Given the description of an element on the screen output the (x, y) to click on. 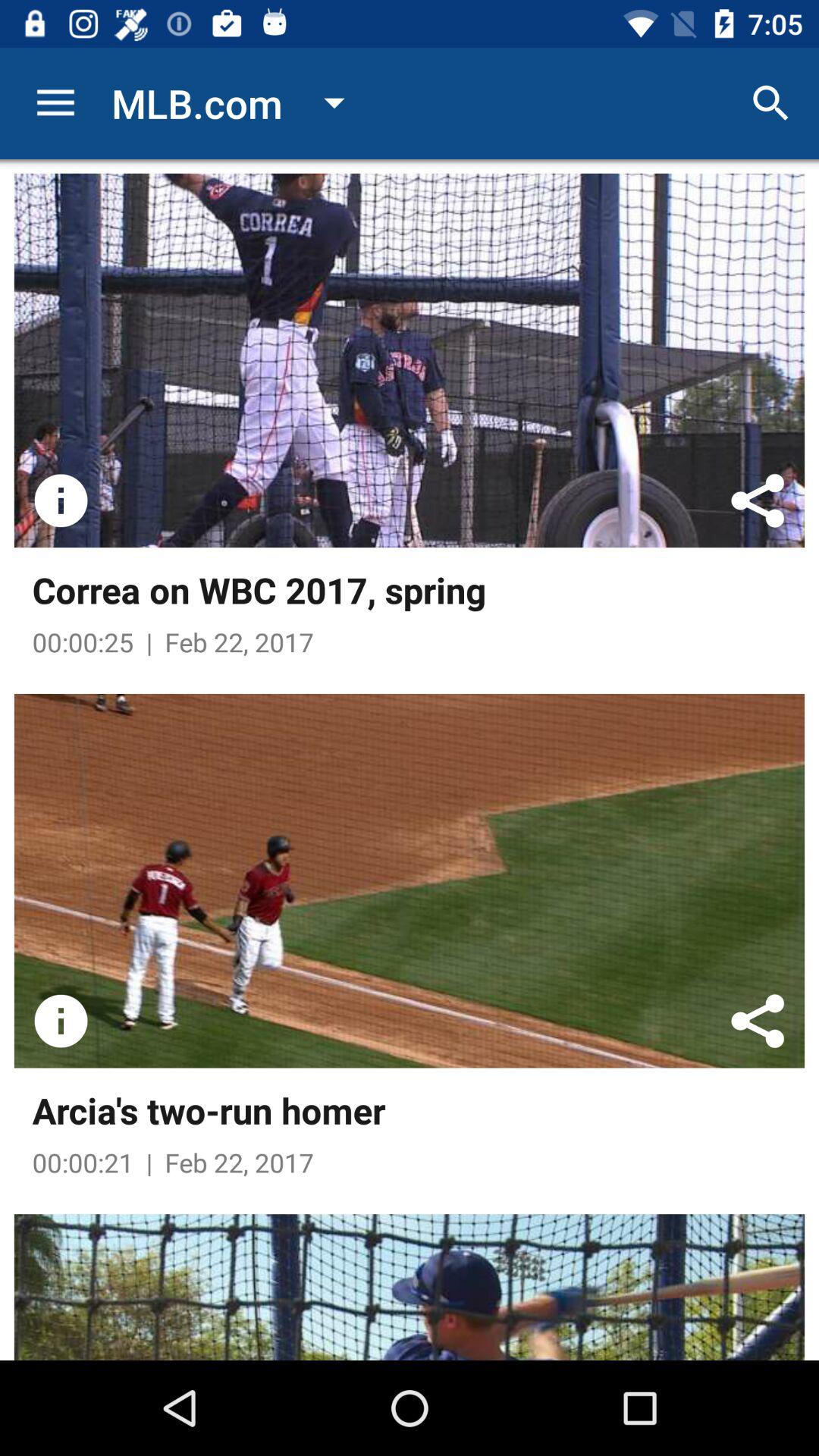
click item to the left of the mlb.com item (55, 103)
